Given the description of an element on the screen output the (x, y) to click on. 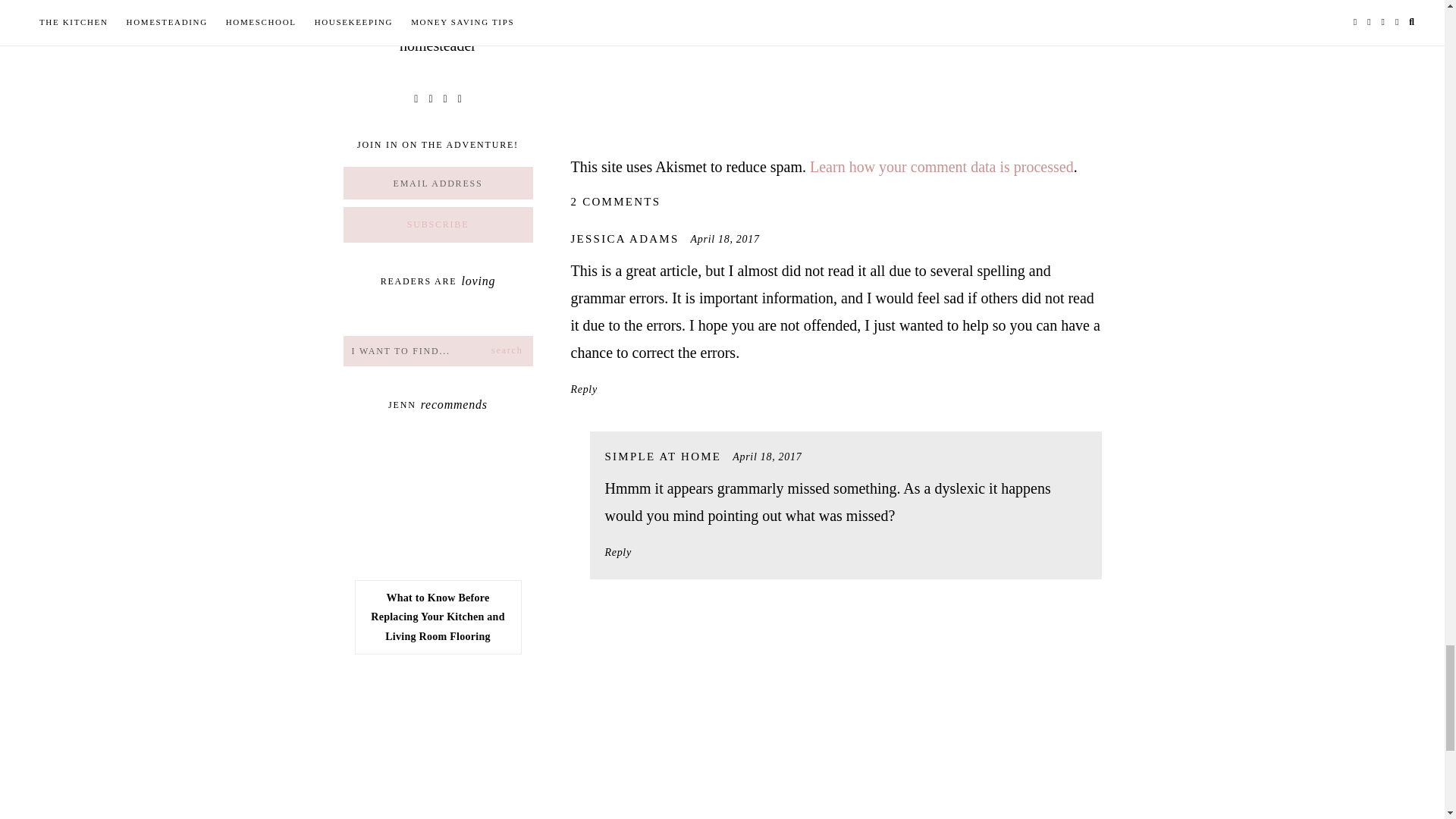
Comment Form (835, 59)
Subscribe (437, 224)
